Given the description of an element on the screen output the (x, y) to click on. 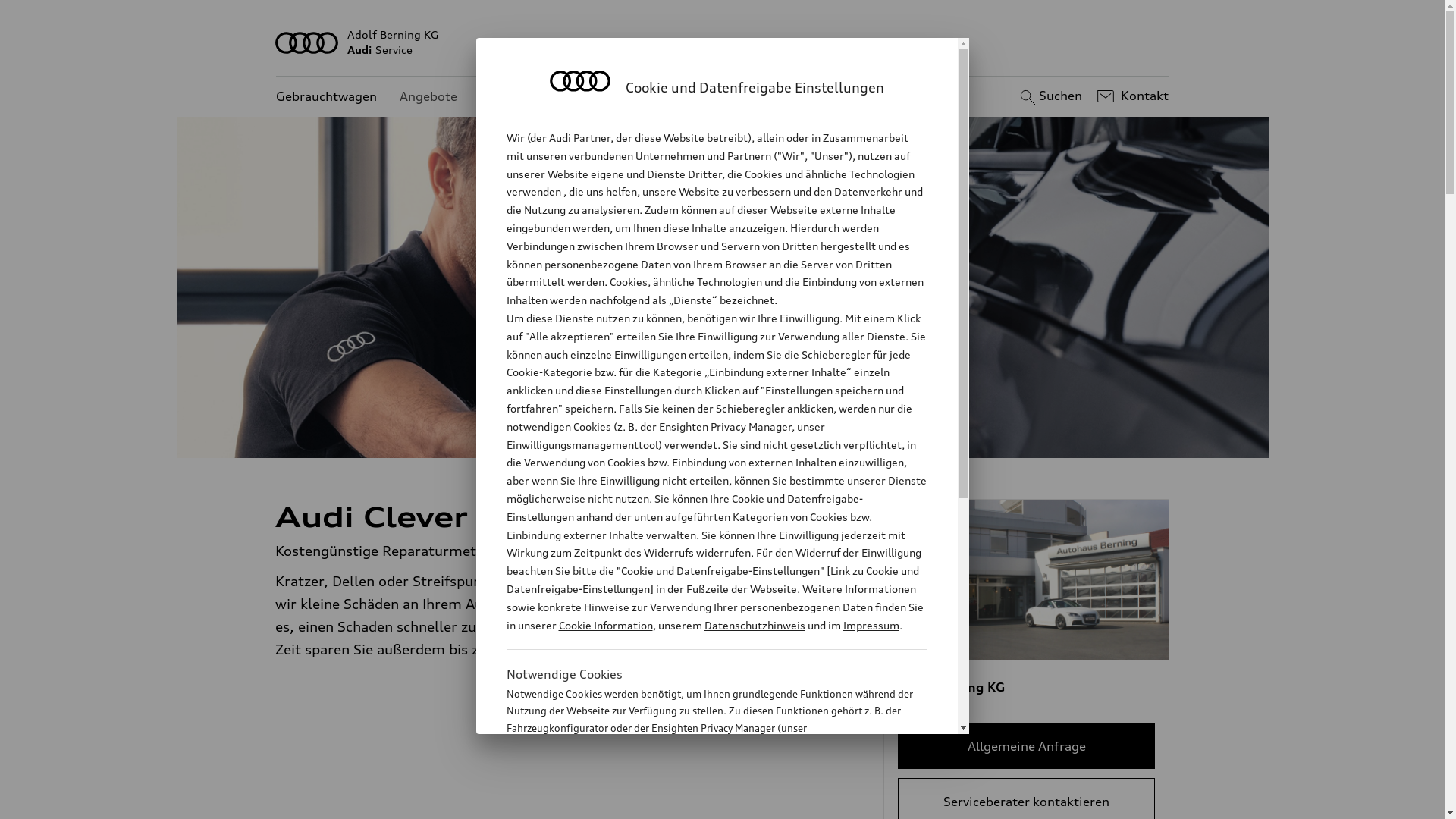
Kundenservice Element type: text (523, 96)
Suchen Element type: text (1049, 96)
Allgemeine Anfrage Element type: text (1025, 745)
Kontakt Element type: text (1130, 96)
Angebote Element type: text (428, 96)
Adolf Berning KG
AudiService Element type: text (722, 42)
Datenschutzhinweis Element type: text (753, 624)
Audi Partner Element type: text (579, 137)
Impressum Element type: text (871, 624)
Cookie Information Element type: text (605, 624)
Gebrauchtwagen Element type: text (326, 96)
Cookie Information Element type: text (700, 802)
